Given the description of an element on the screen output the (x, y) to click on. 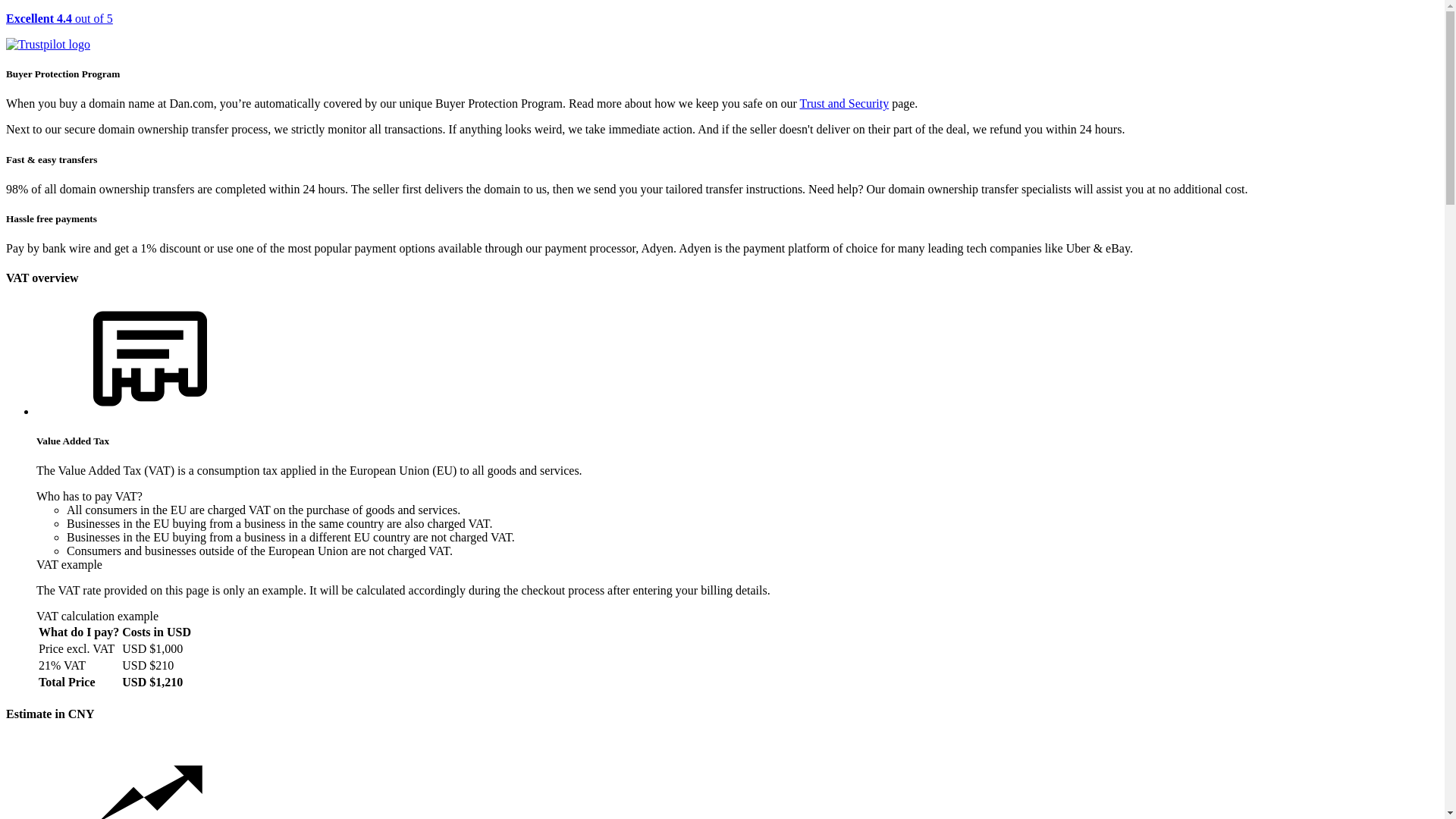
Excellent 4.4 out of 5 Element type: text (722, 31)
Trust and Security Element type: text (844, 103)
